Given the description of an element on the screen output the (x, y) to click on. 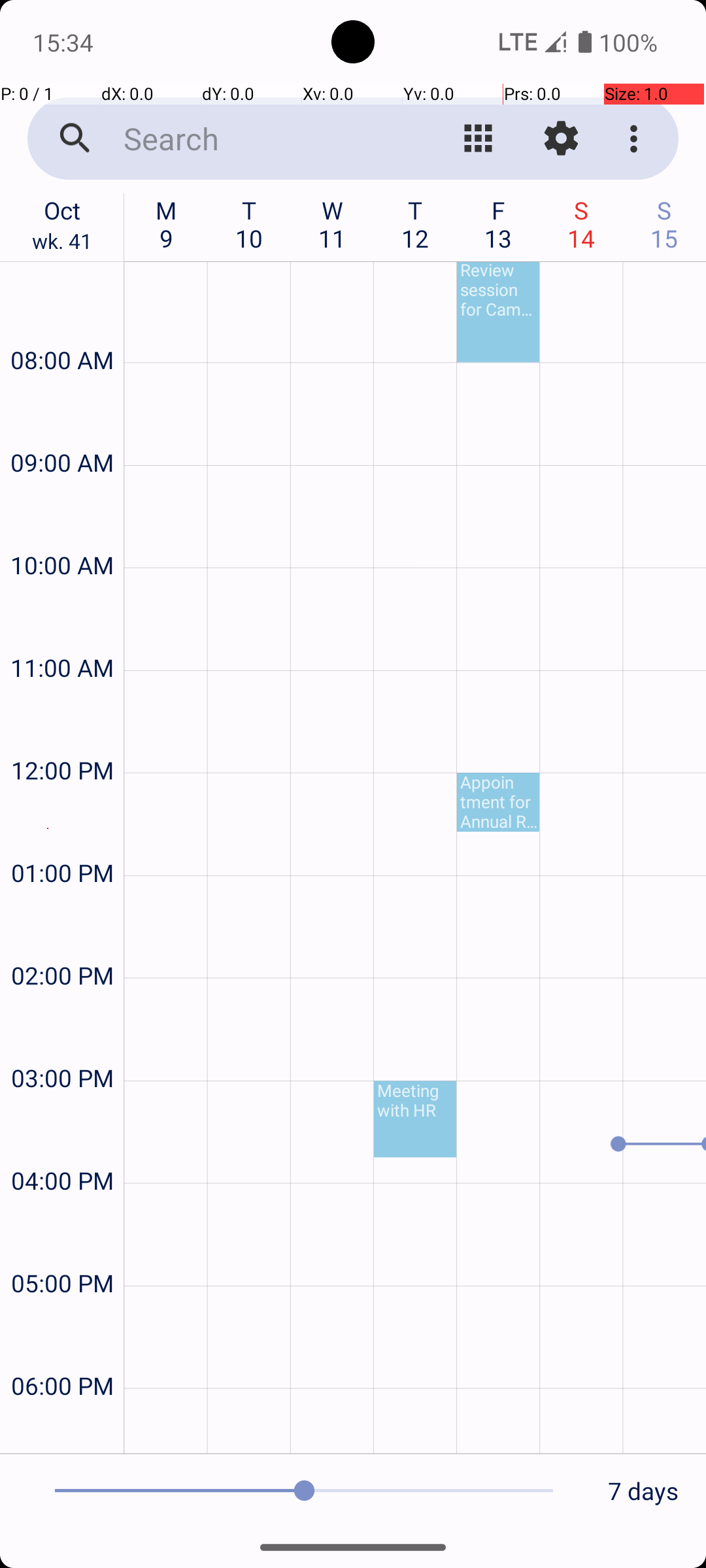
wk. 41 Element type: android.widget.TextView (62, 243)
7 days Element type: android.widget.TextView (642, 1490)
08:00 AM Element type: android.widget.TextView (62, 324)
09:00 AM Element type: android.widget.TextView (62, 427)
10:00 AM Element type: android.widget.TextView (62, 529)
11:00 AM Element type: android.widget.TextView (62, 632)
12:00 PM Element type: android.widget.TextView (62, 735)
01:00 PM Element type: android.widget.TextView (62, 837)
02:00 PM Element type: android.widget.TextView (62, 940)
03:00 PM Element type: android.widget.TextView (62, 1042)
04:00 PM Element type: android.widget.TextView (62, 1145)
05:00 PM Element type: android.widget.TextView (62, 1247)
06:00 PM Element type: android.widget.TextView (62, 1350)
07:00 PM Element type: android.widget.TextView (62, 1428)
M
9 Element type: android.widget.TextView (165, 223)
T
10 Element type: android.widget.TextView (248, 223)
W
11 Element type: android.widget.TextView (331, 223)
T
12 Element type: android.widget.TextView (414, 223)
F
13 Element type: android.widget.TextView (497, 223)
S
14 Element type: android.widget.TextView (580, 223)
S
15 Element type: android.widget.TextView (664, 223)
Meeting with HR Element type: android.widget.TextView (414, 1119)
Appointment for Annual Report Element type: android.widget.TextView (497, 801)
